Given the description of an element on the screen output the (x, y) to click on. 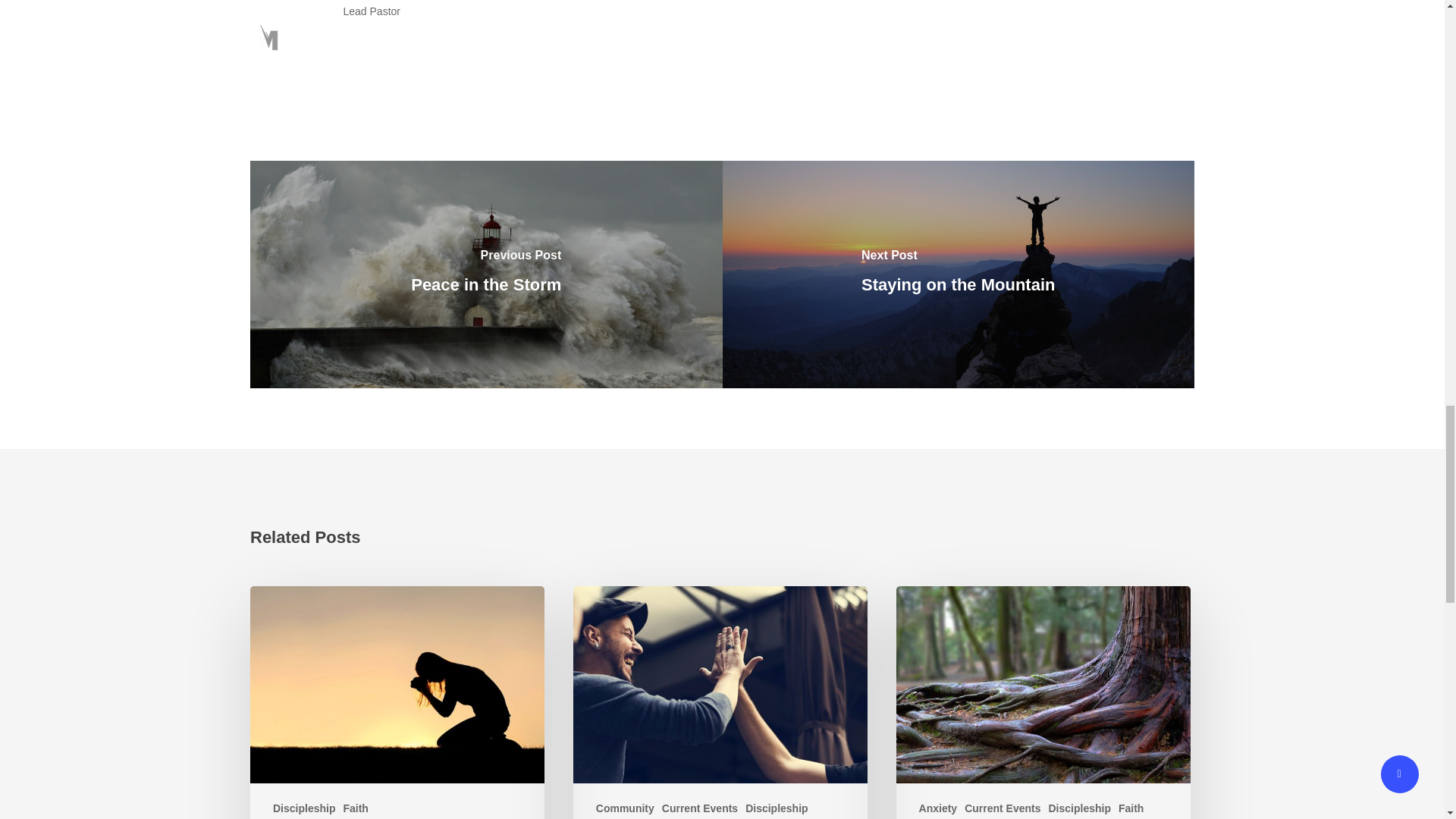
Faith (1130, 808)
Discipleship (776, 808)
Discipleship (1078, 808)
Current Events (1002, 808)
Anxiety (938, 808)
Discipleship (303, 808)
Community (624, 808)
Current Events (700, 808)
Faith (355, 808)
